Given the description of an element on the screen output the (x, y) to click on. 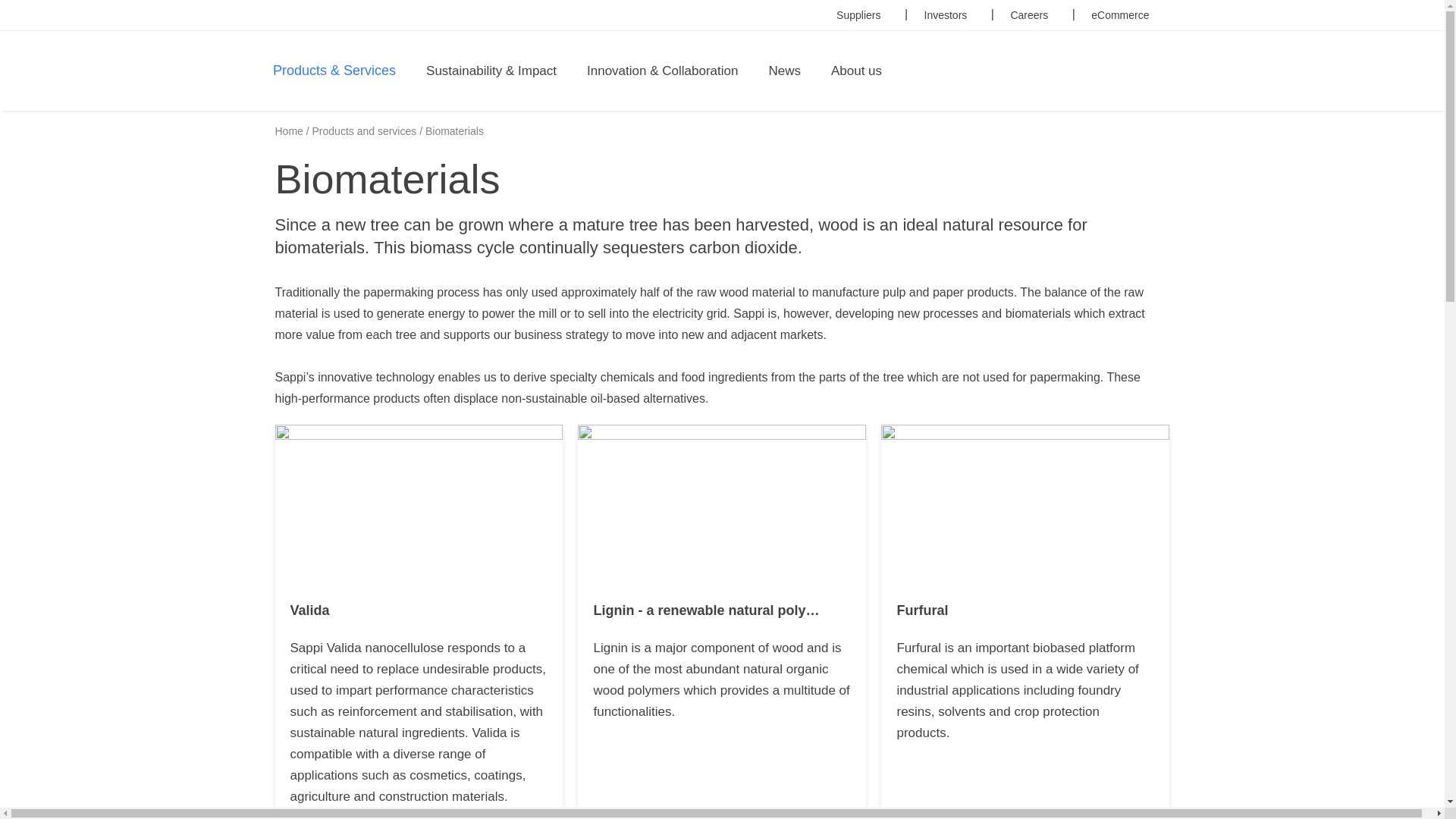
About us (856, 71)
News (784, 71)
